Given the description of an element on the screen output the (x, y) to click on. 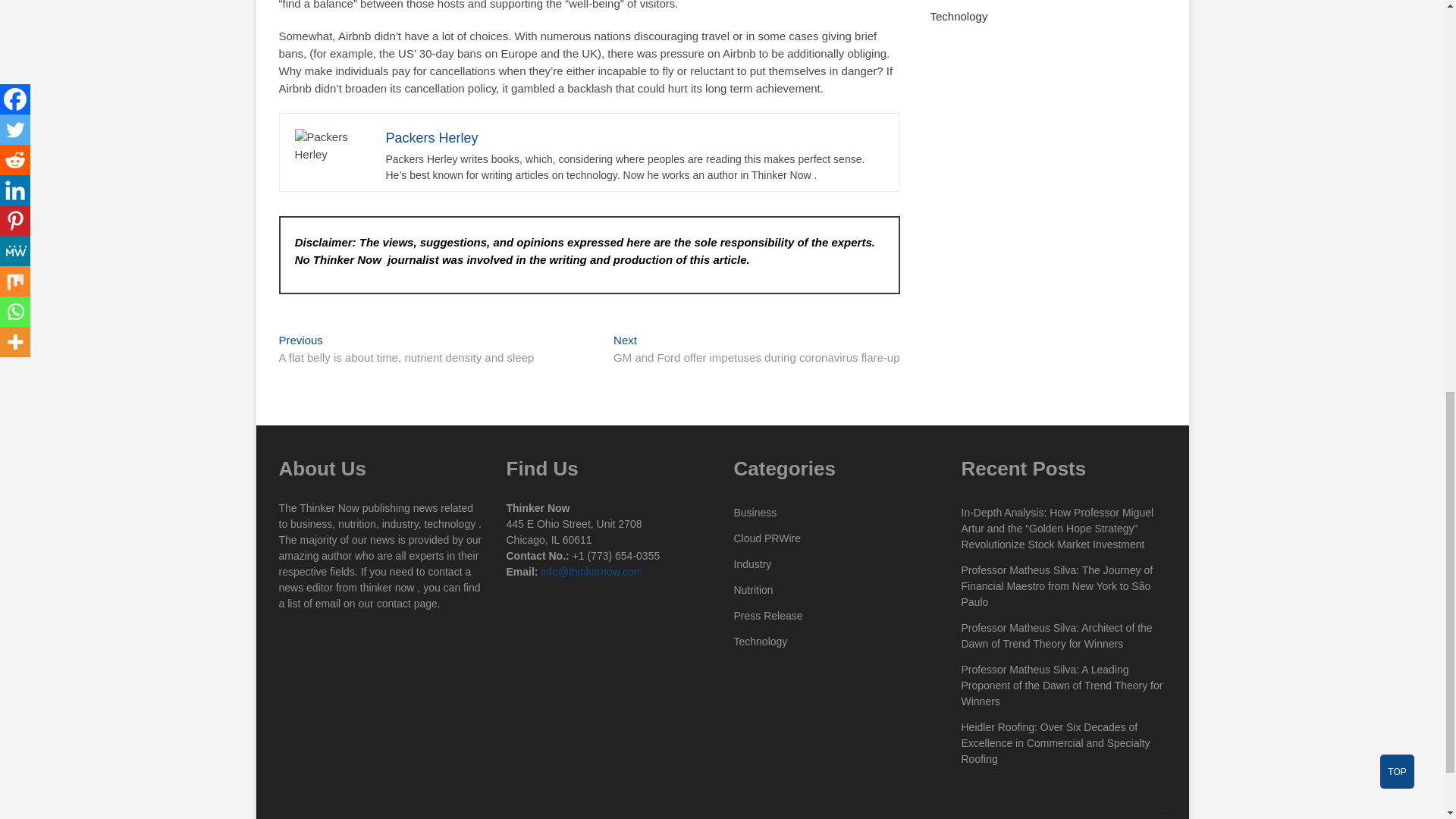
Packers Herley (431, 137)
